Given the description of an element on the screen output the (x, y) to click on. 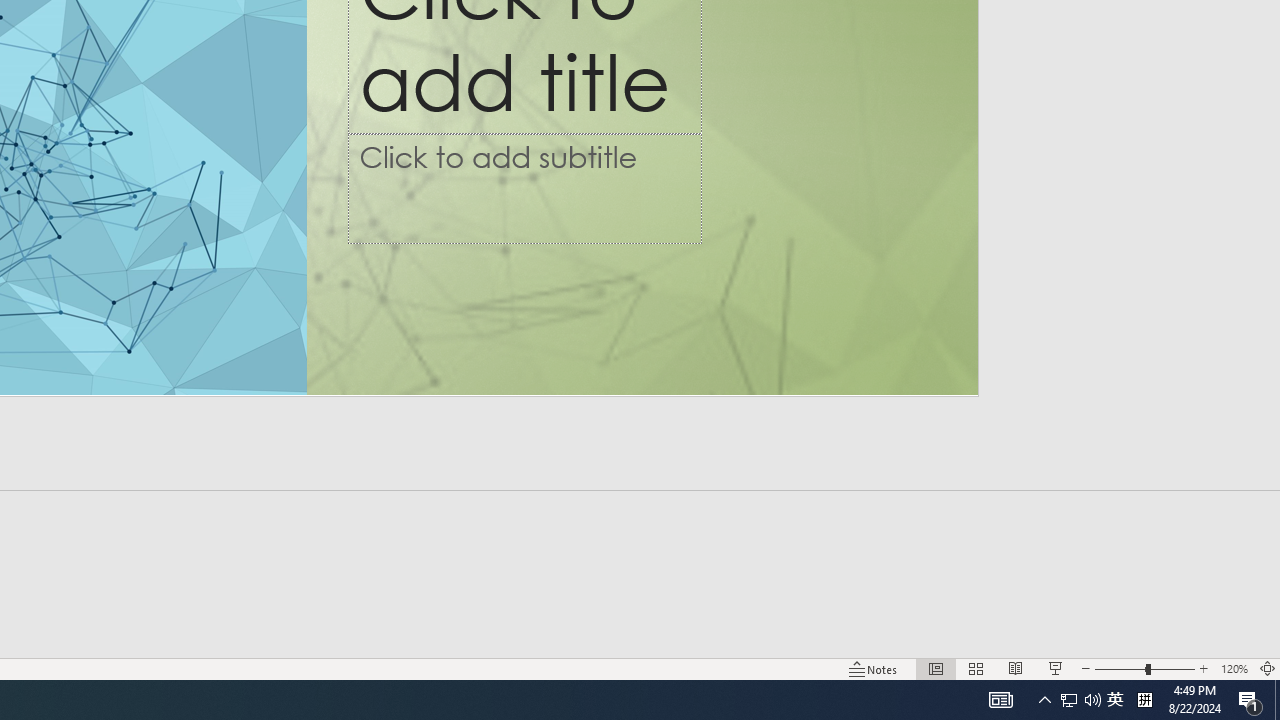
Notification Chevron (1044, 699)
Q2790: 100% (1092, 699)
AutomationID: 4105 (1000, 699)
Tray Input Indicator - Chinese (Simplified, China) (1144, 699)
User Promoted Notification Area (1069, 699)
Action Center, 1 new notification (1080, 699)
